Given the description of an element on the screen output the (x, y) to click on. 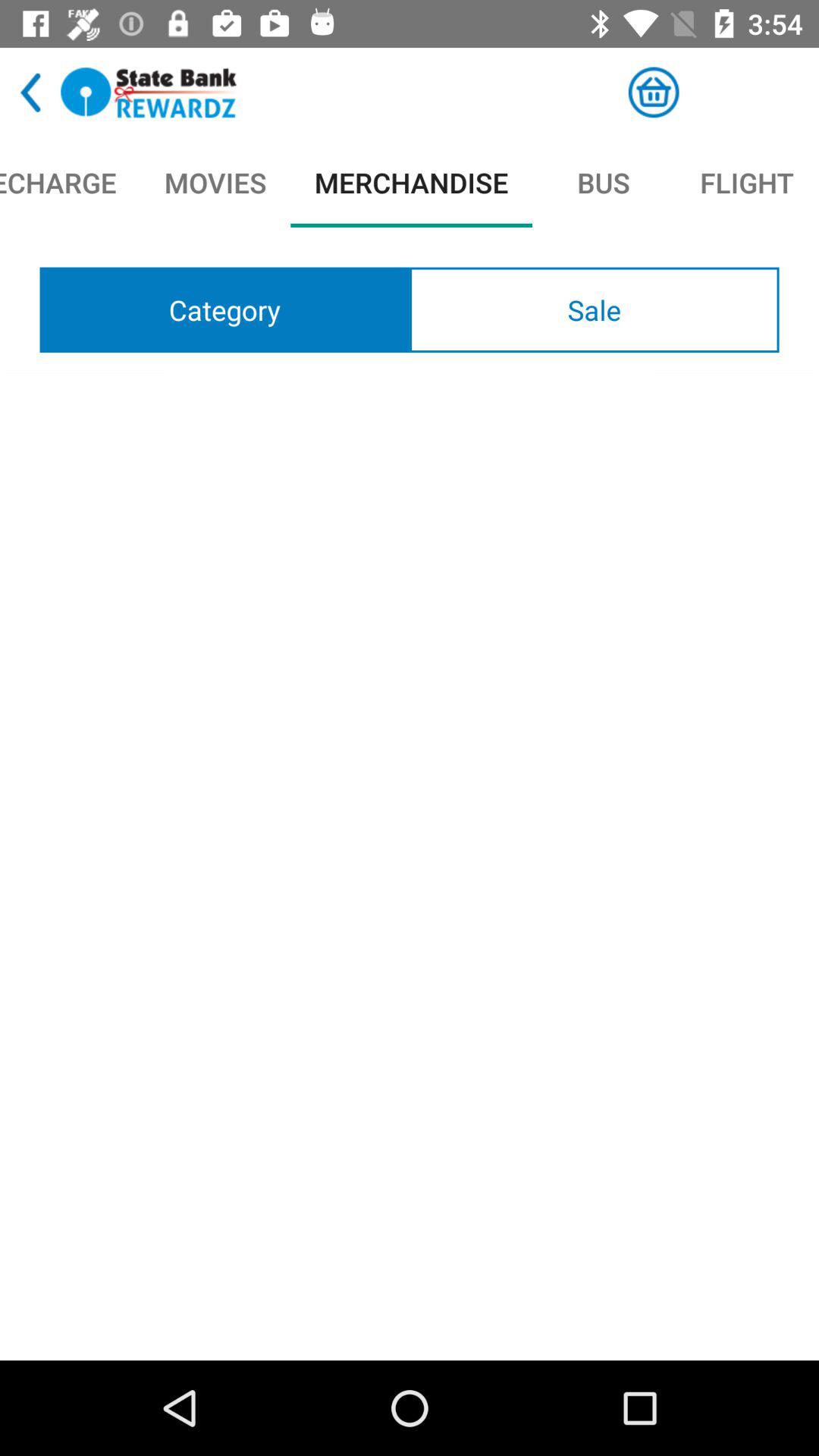
go back (30, 92)
